Given the description of an element on the screen output the (x, y) to click on. 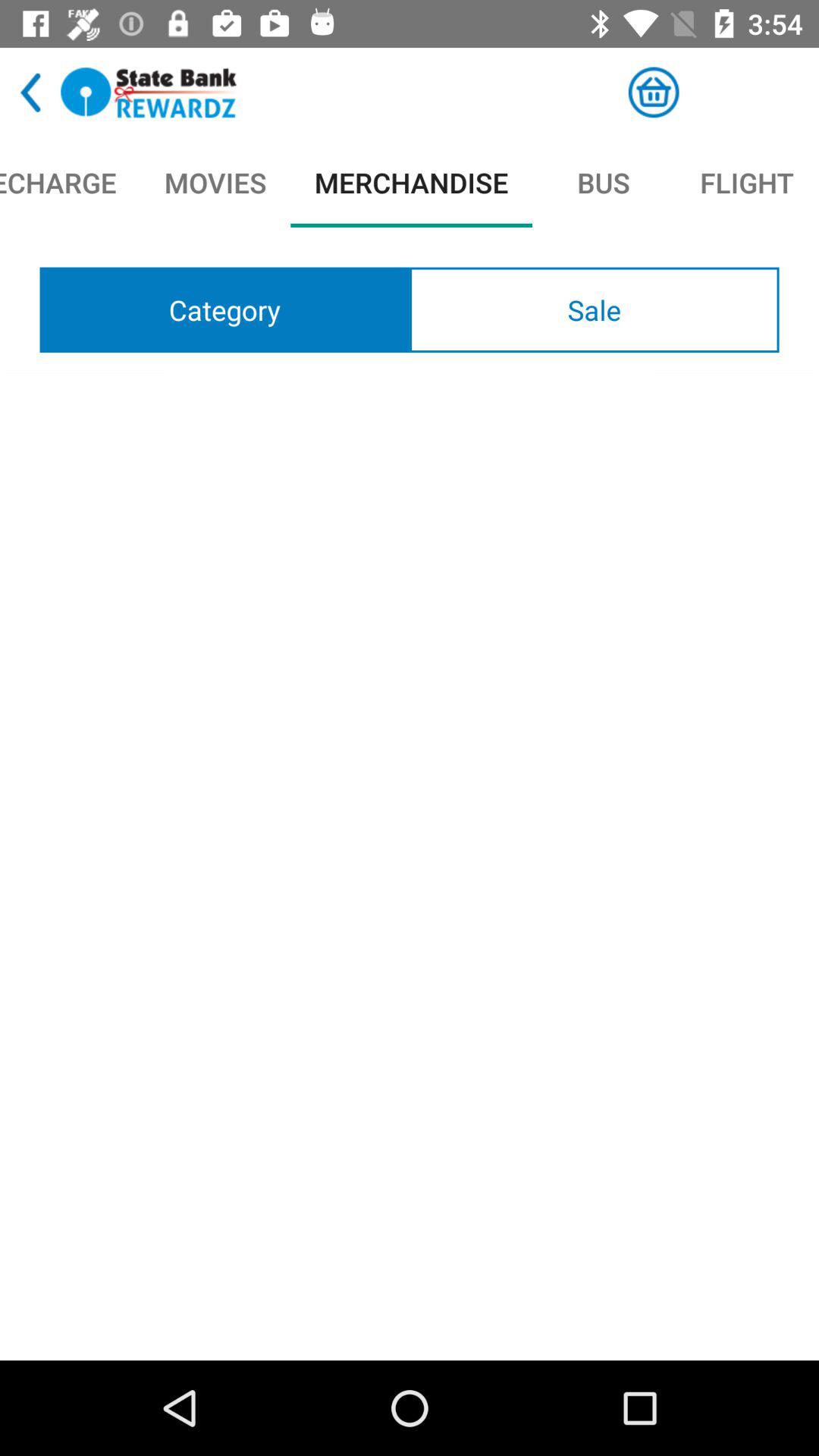
go back (30, 92)
